Given the description of an element on the screen output the (x, y) to click on. 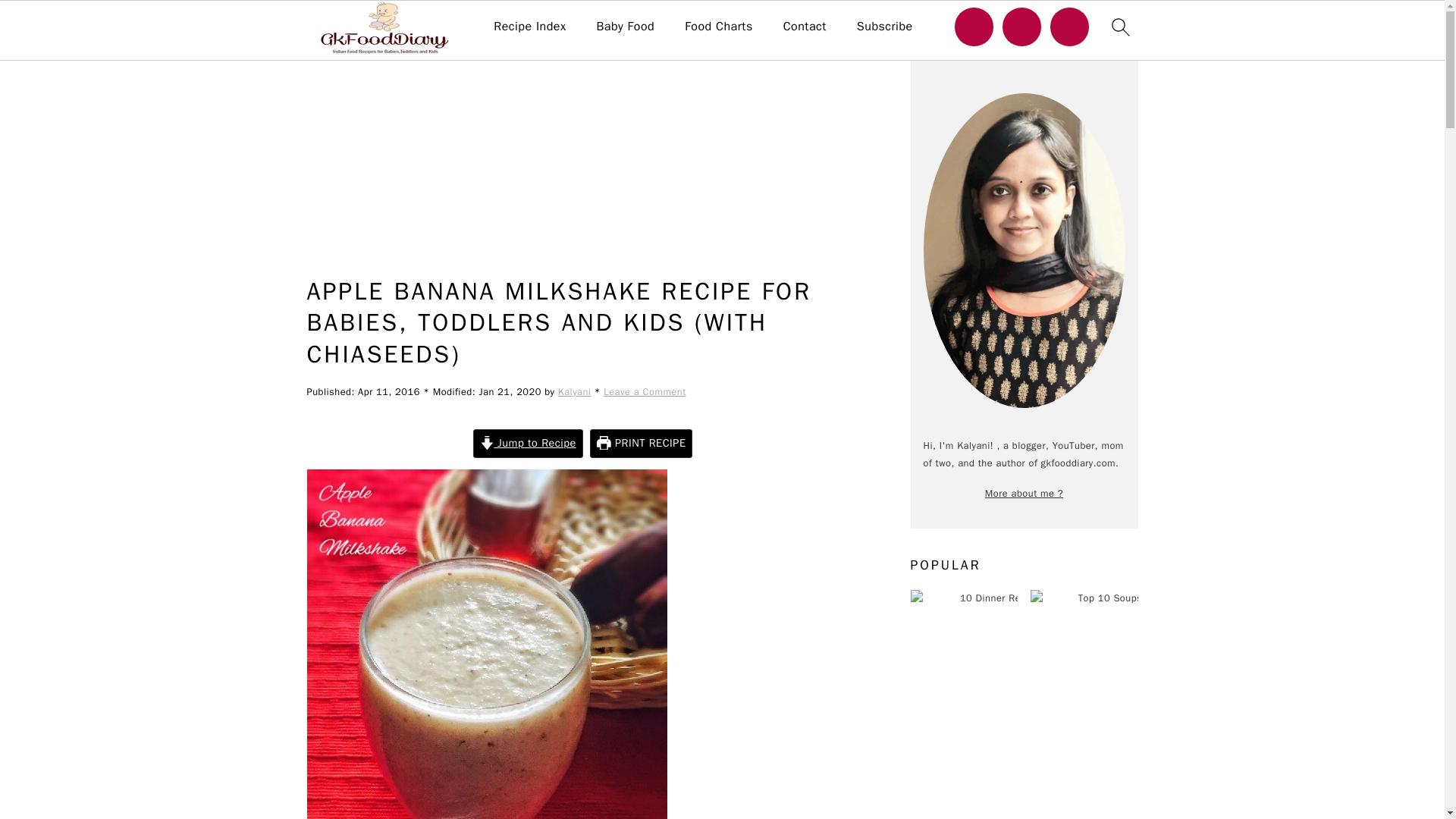
Kalyani (574, 391)
Recipes (384, 21)
Subscribe (884, 26)
Home (322, 21)
Contact (805, 26)
Recipe Index (529, 26)
Baby Food (624, 26)
Apple Recipes (470, 21)
Apple Banana Milkshake Recipe (485, 644)
search icon (1119, 26)
Food Charts (718, 26)
